Given the description of an element on the screen output the (x, y) to click on. 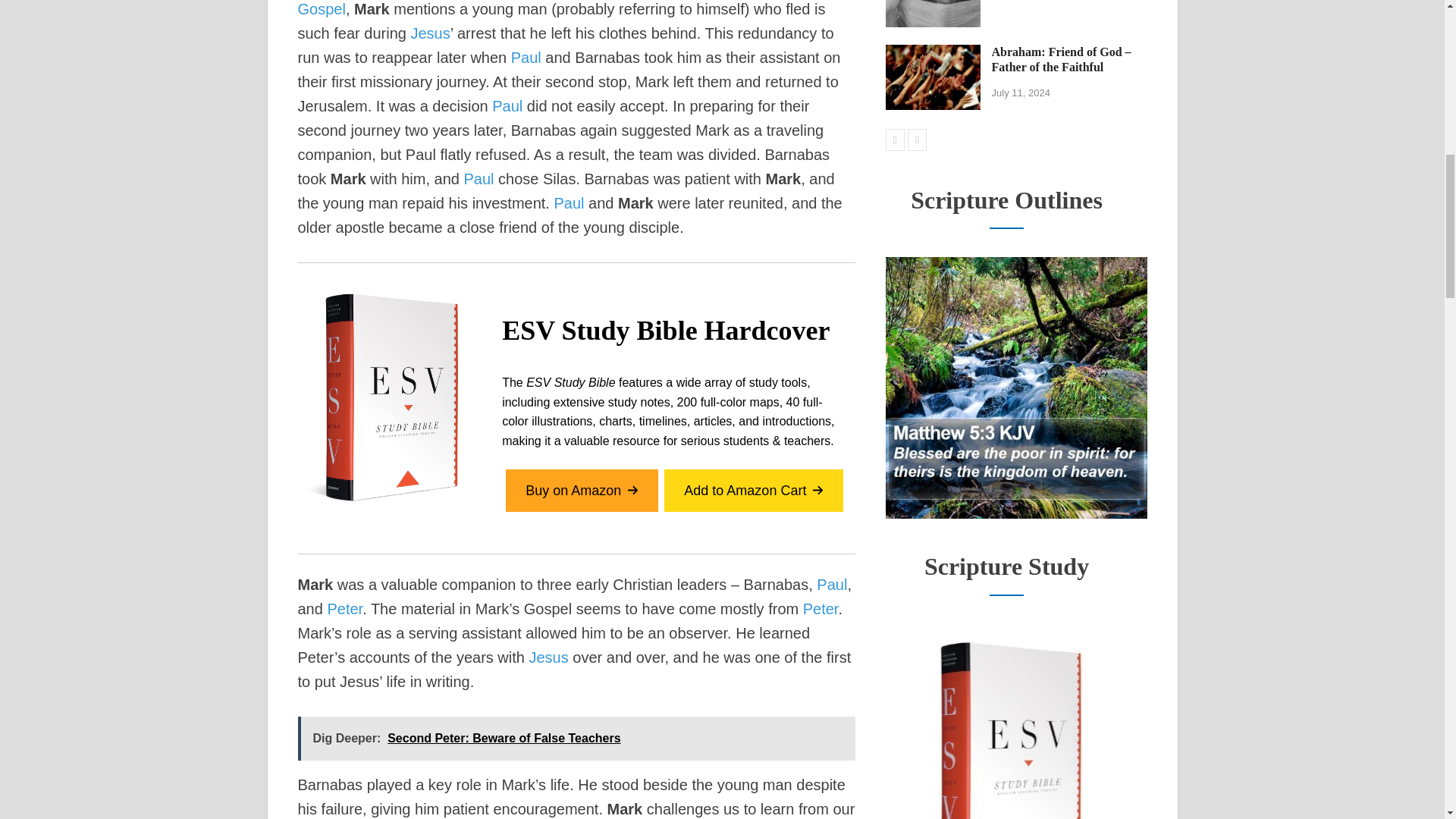
Buy on Amazon (581, 490)
Jesus (429, 33)
Gospel (321, 8)
Add to Amazon Cart (753, 490)
Paul (507, 105)
Paul (479, 178)
Paul (568, 202)
Paul (831, 584)
Paul (526, 57)
Peter (344, 608)
